Given the description of an element on the screen output the (x, y) to click on. 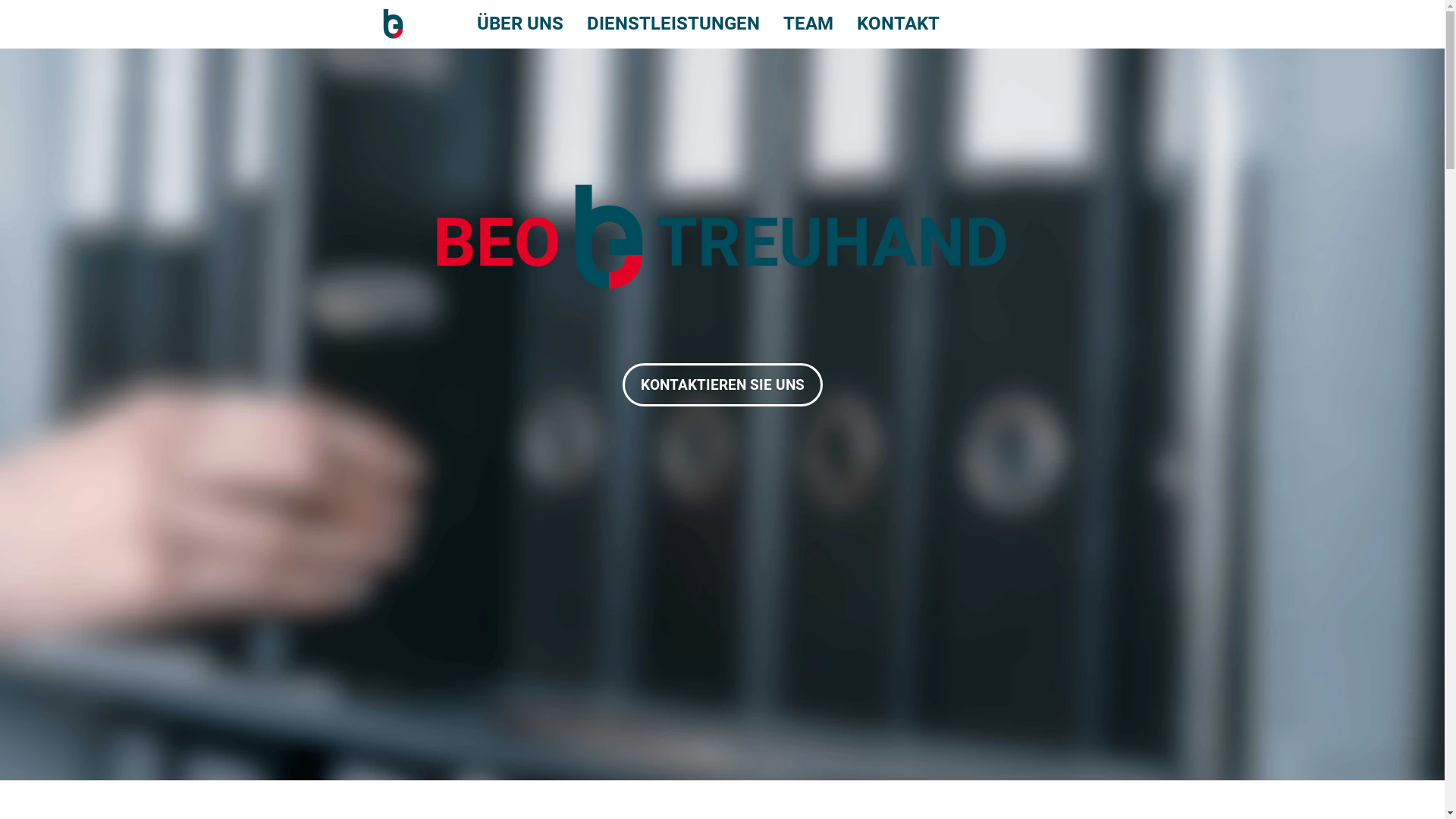
KONTAKTIEREN SIE UNS Element type: text (721, 384)
TEAM Element type: text (807, 23)
Beo Treuhand GmbH Element type: hover (392, 24)
DIENSTLEISTUNGEN Element type: text (672, 23)
KONTAKT Element type: text (897, 23)
Beo Treuhand GmbH Element type: hover (722, 235)
